Given the description of an element on the screen output the (x, y) to click on. 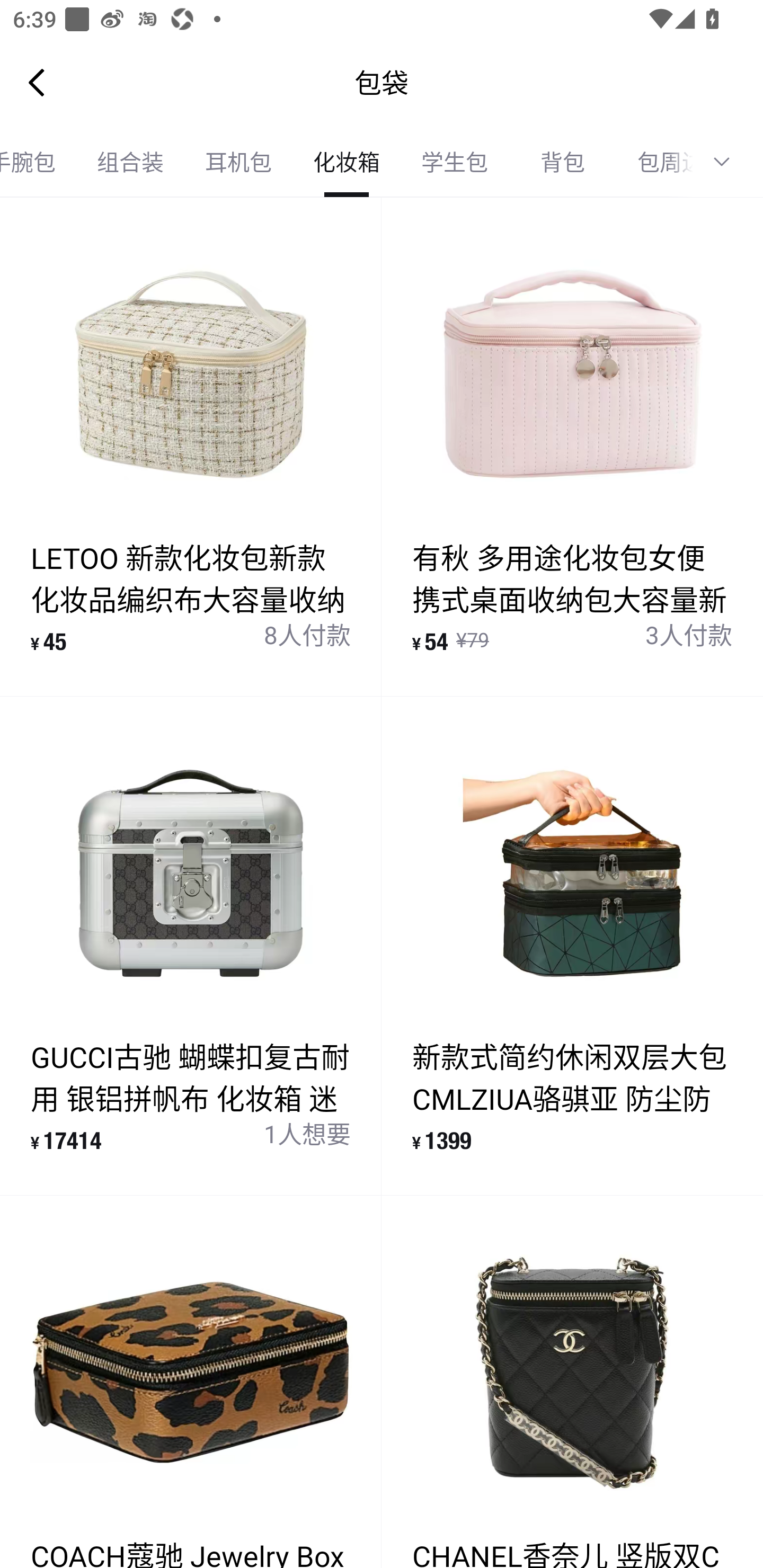
Navigate up (36, 82)
手腕包 (38, 162)
组合装 (130, 162)
耳机包 (238, 162)
化妆箱 (346, 162)
学生包 (454, 162)
背包 (562, 162)
 (727, 162)
CHANEL香奈儿 竖版双C
链条 粒面牛皮 化妆包链
条包化妆箱 女款 黑色 (572, 1381)
